Given the description of an element on the screen output the (x, y) to click on. 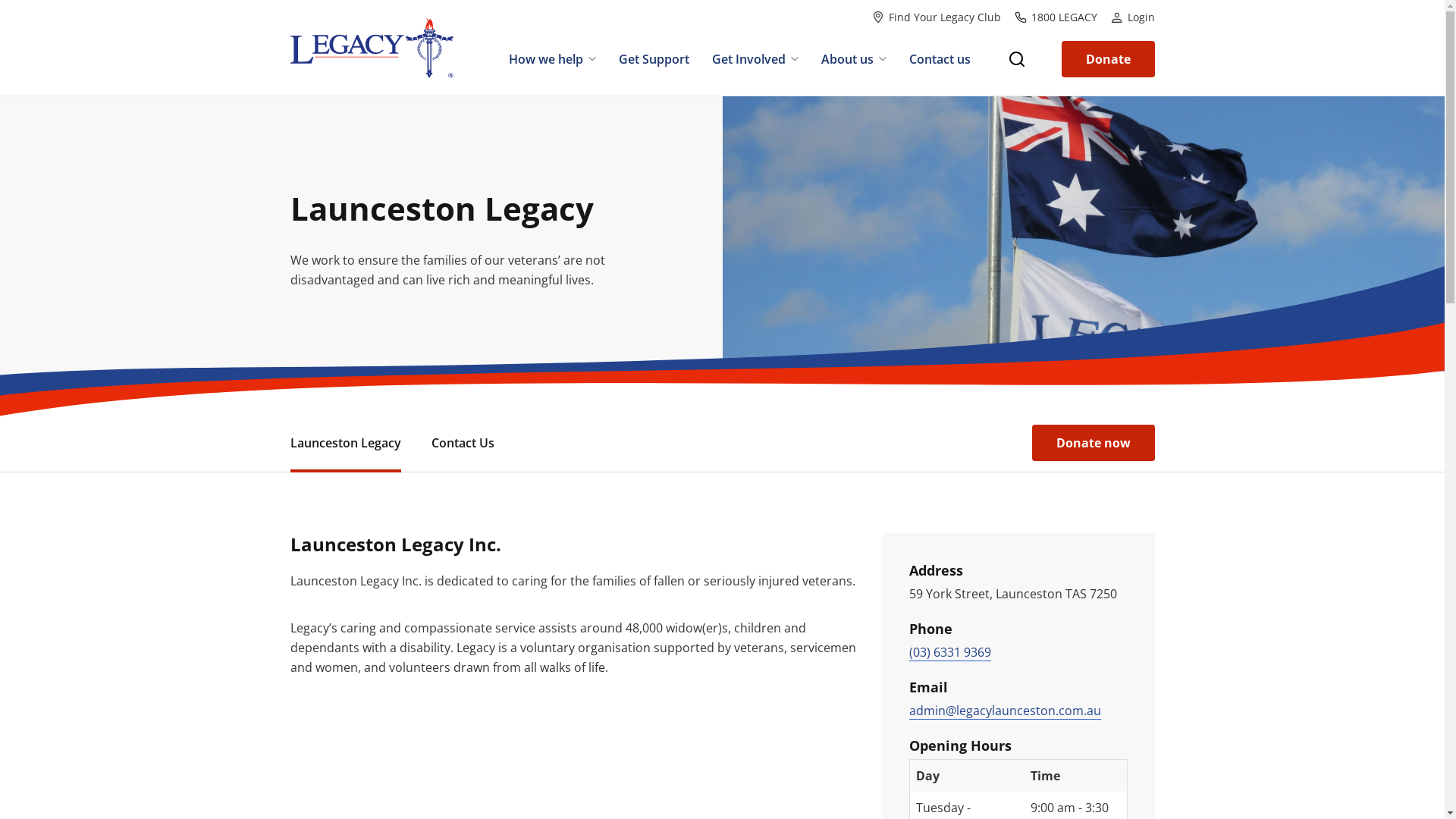
admin@legacylaunceston.com.au Element type: text (1004, 710)
Login Element type: text (1132, 17)
Get Support Element type: text (653, 60)
(03) 6331 9369 Element type: text (949, 651)
Contact us Element type: text (939, 60)
Donate now Element type: text (1092, 442)
Launceston Legacy Element type: text (344, 442)
1800 LEGACY Element type: text (1055, 17)
Donate Element type: text (1107, 58)
Get Involved Element type: text (755, 60)
Contact Us Element type: text (461, 442)
About us Element type: text (853, 60)
How we help Element type: text (552, 60)
Find Your Legacy Club Element type: text (936, 17)
